Given the description of an element on the screen output the (x, y) to click on. 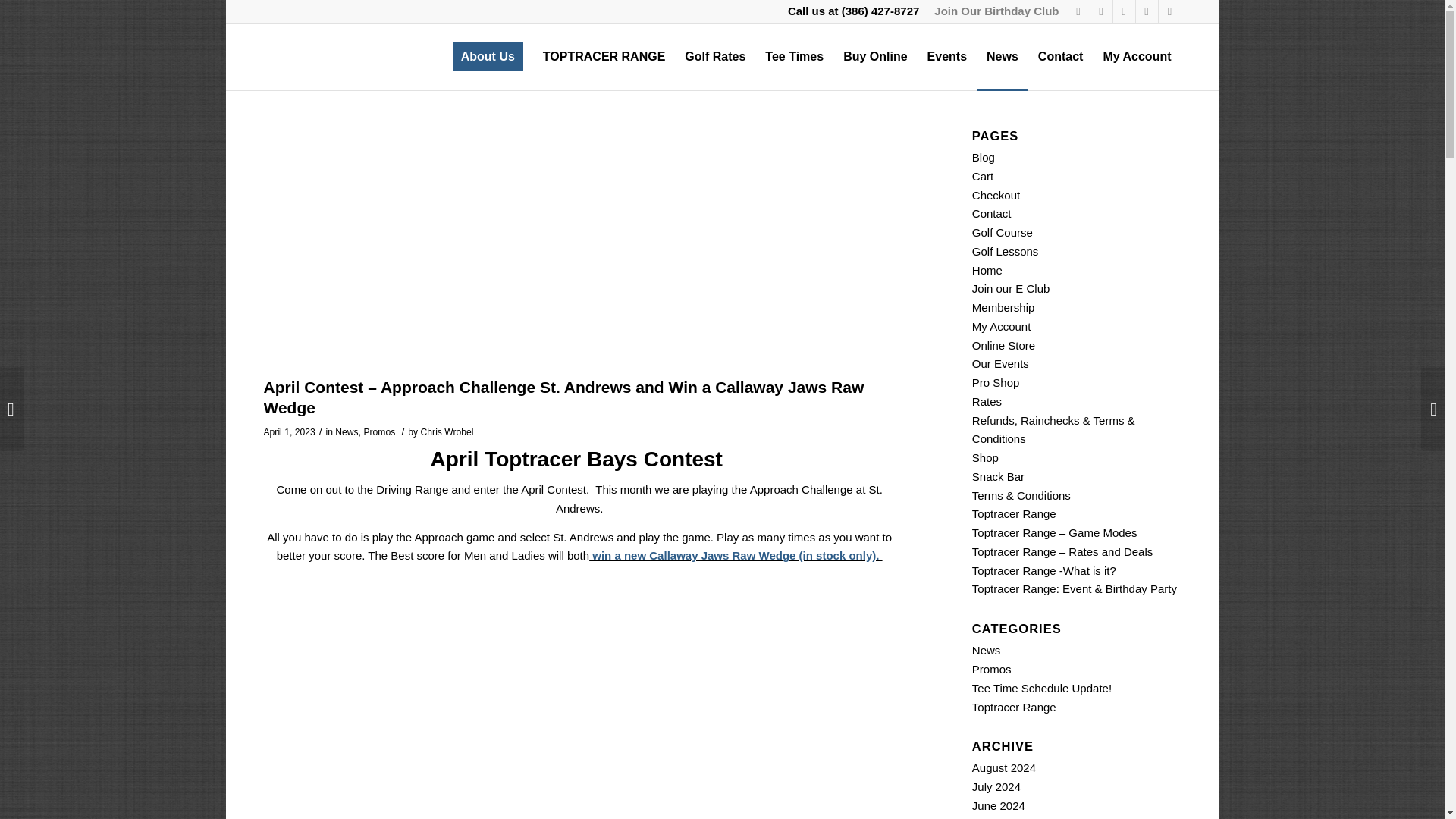
About Us (487, 56)
News (346, 431)
Golf Rates (715, 56)
Buy Online (874, 56)
TOPTRACER RANGE (603, 56)
Promos (378, 431)
Posts by Chris Wrobel (447, 431)
Chris Wrobel (447, 431)
Tee Times (793, 56)
